Given the description of an element on the screen output the (x, y) to click on. 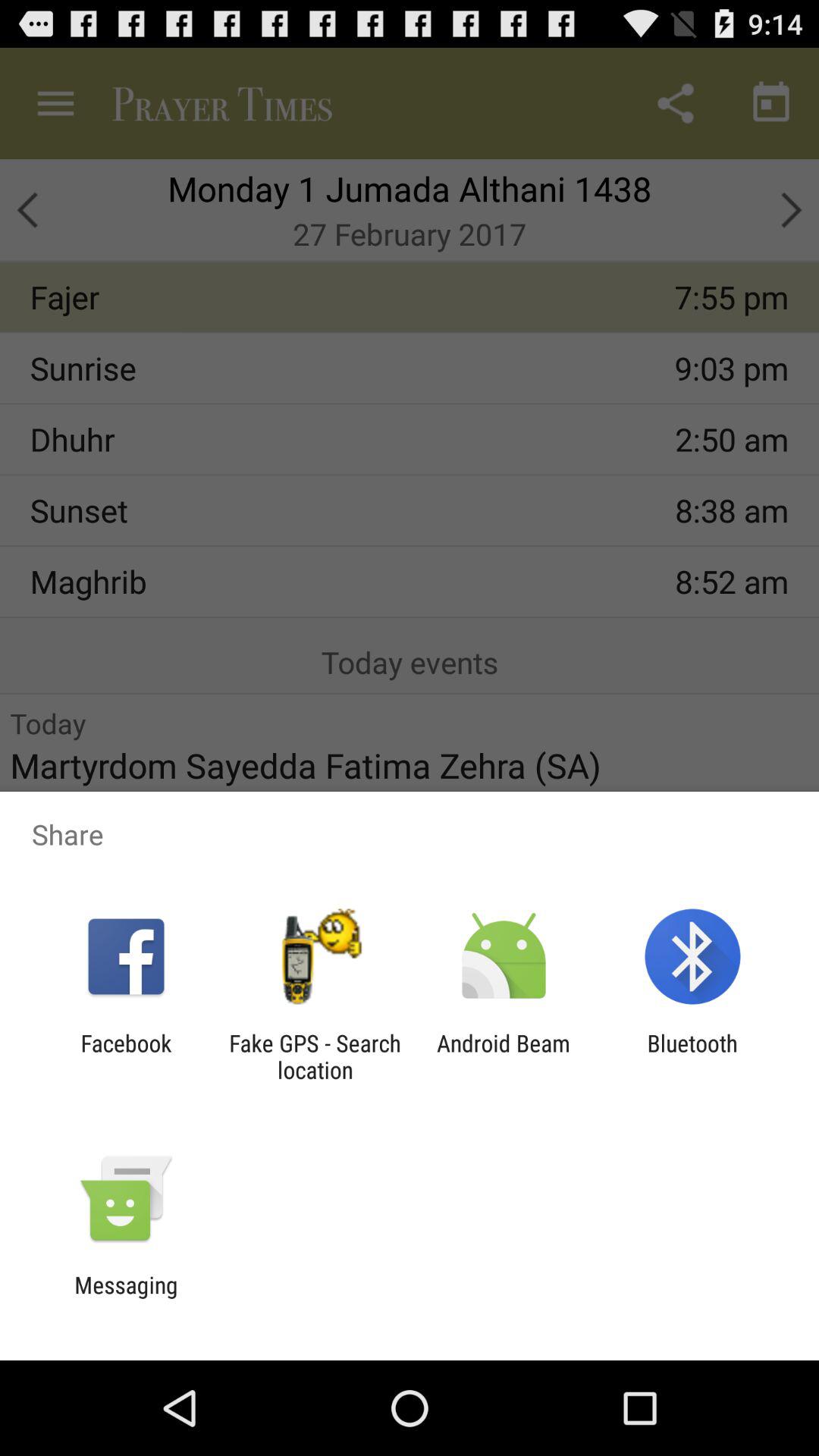
select the app next to the android beam icon (692, 1056)
